Given the description of an element on the screen output the (x, y) to click on. 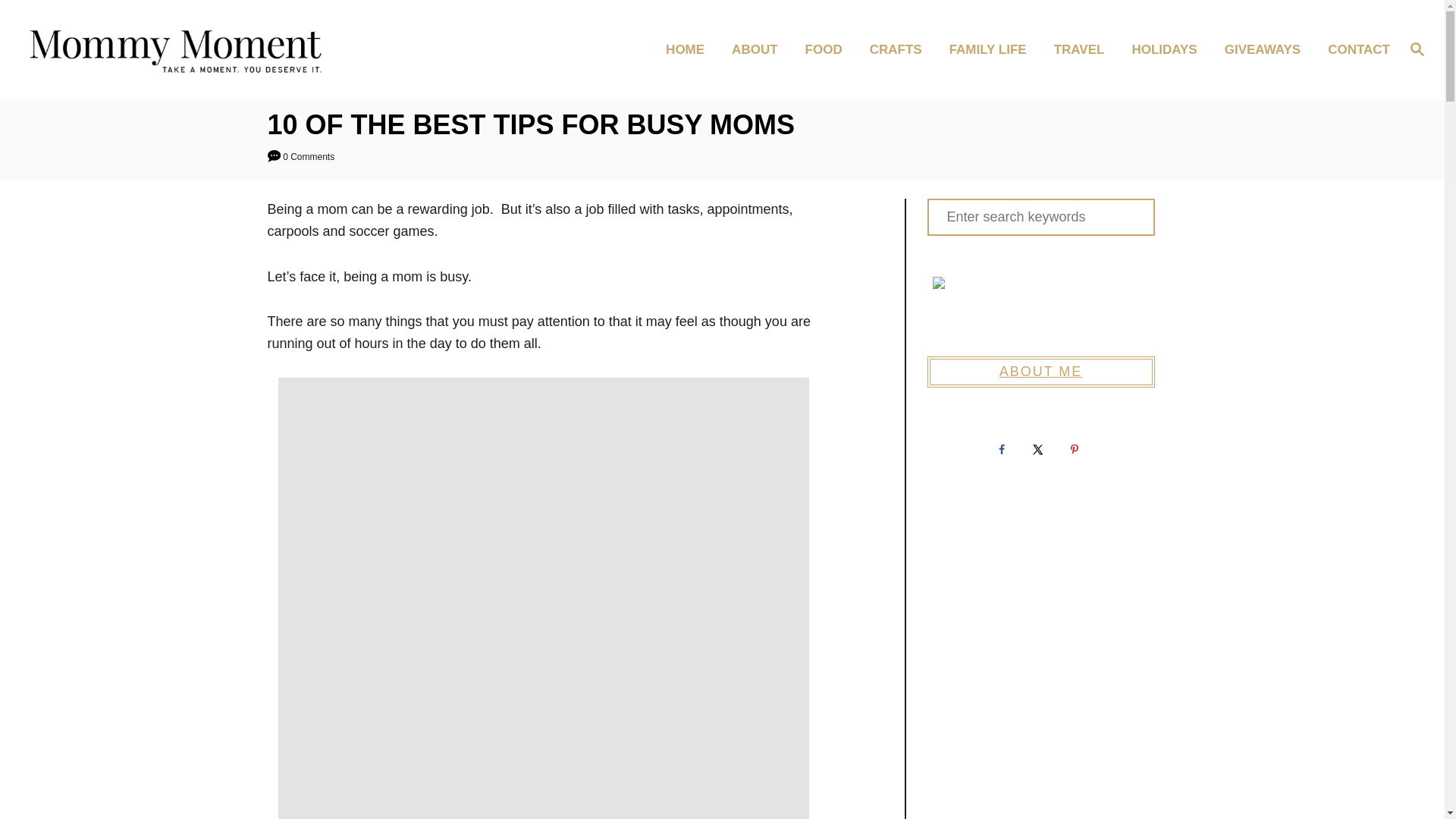
CRAFTS (900, 49)
ABOUT (758, 49)
FOOD (828, 49)
Follow on X (1040, 449)
FAMILY LIFE (992, 49)
Magnifying Glass (1416, 48)
Follow on Facebook (1003, 449)
Mommy Moment (187, 49)
Follow on Pinterest (1076, 449)
GIVEAWAYS (1267, 49)
HOME (689, 49)
TRAVEL (1083, 49)
Search for: (1040, 217)
HOLIDAYS (1168, 49)
